Given the description of an element on the screen output the (x, y) to click on. 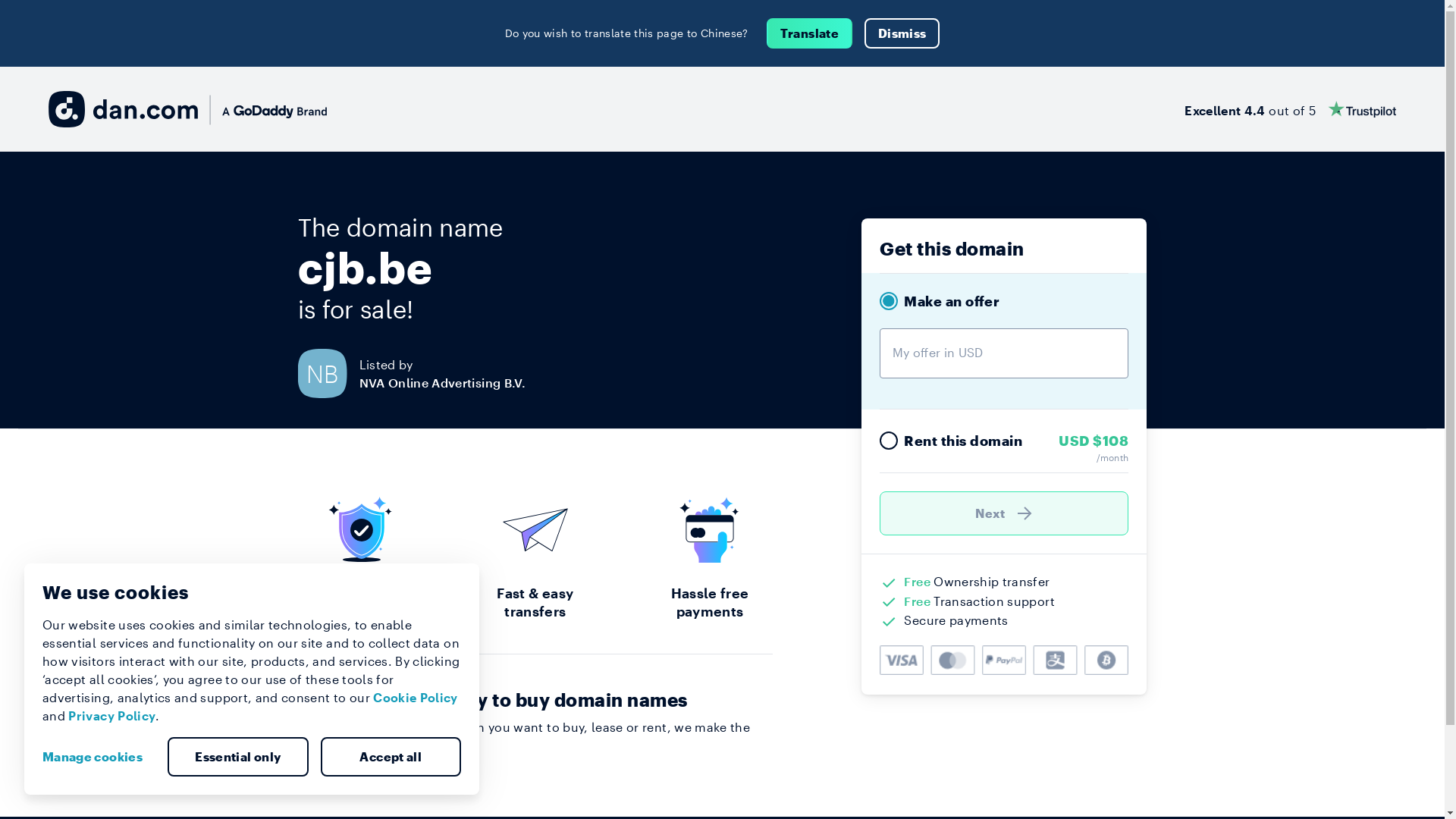
Cookie Policy Element type: text (415, 697)
Essential only Element type: text (237, 756)
Next
) Element type: text (1003, 513)
Accept all Element type: text (390, 756)
Privacy Policy Element type: text (111, 715)
Translate Element type: text (809, 33)
Excellent 4.4 out of 5 Element type: text (1290, 109)
Dismiss Element type: text (901, 33)
Manage cookies Element type: text (98, 756)
